Given the description of an element on the screen output the (x, y) to click on. 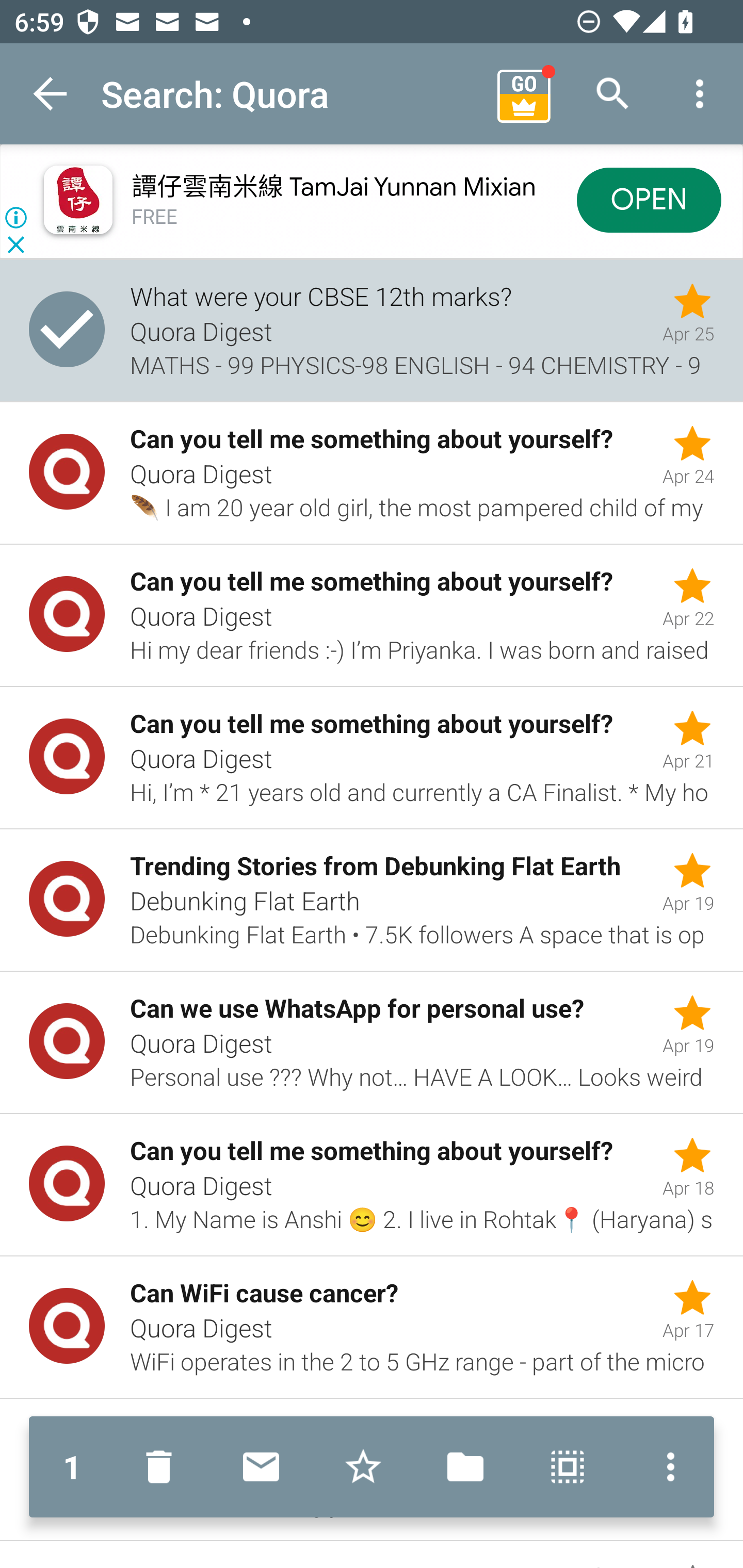
Navigate up (50, 93)
Search (612, 93)
More options (699, 93)
1 1 message (71, 1466)
Move to Deleted (162, 1466)
Mark unread (261, 1466)
Remove stars (363, 1466)
Move to folder… (465, 1466)
Select all (567, 1466)
More options (666, 1466)
